Given the description of an element on the screen output the (x, y) to click on. 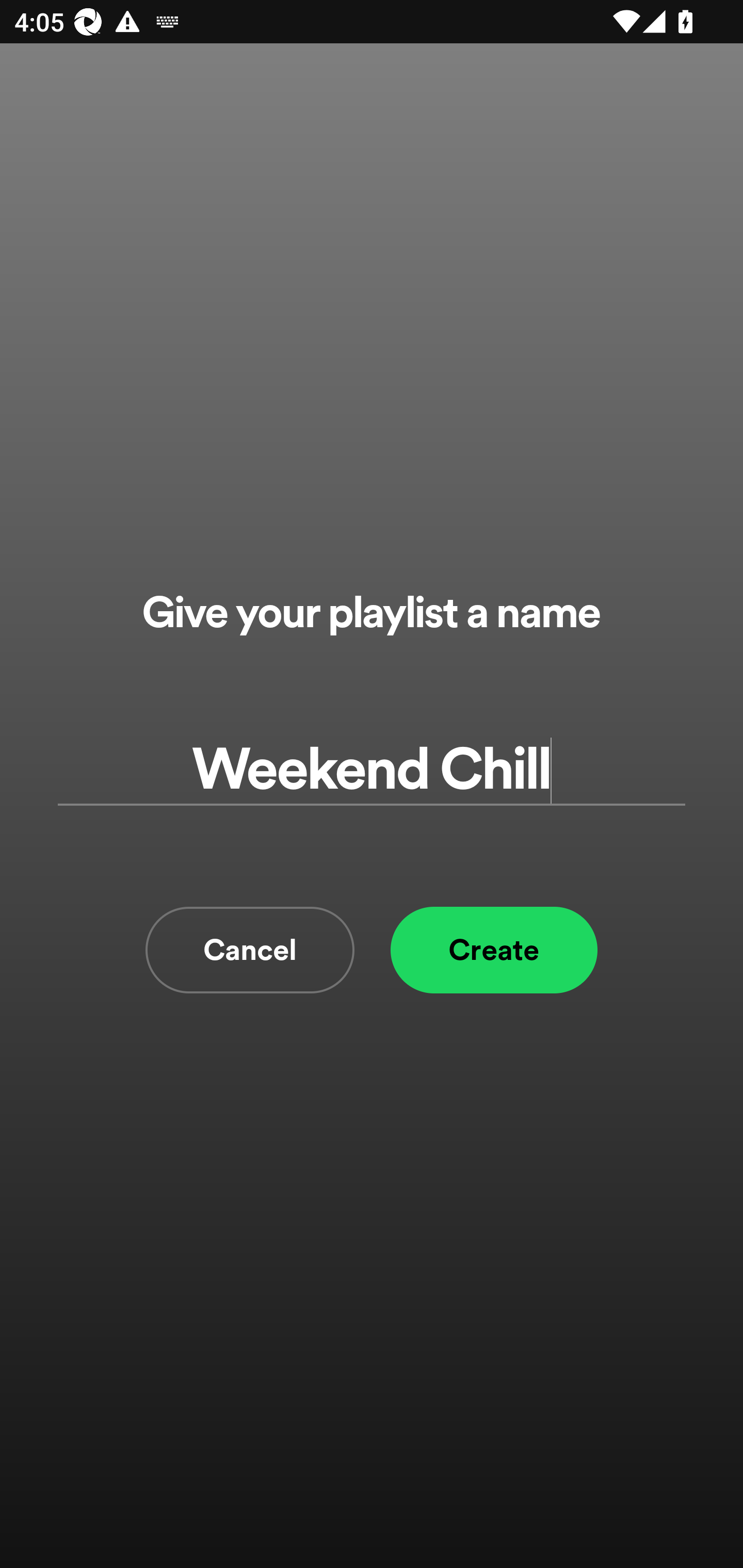
Weekend Chill Add a playlist name (371, 769)
Cancel (249, 950)
Create (493, 950)
